Given the description of an element on the screen output the (x, y) to click on. 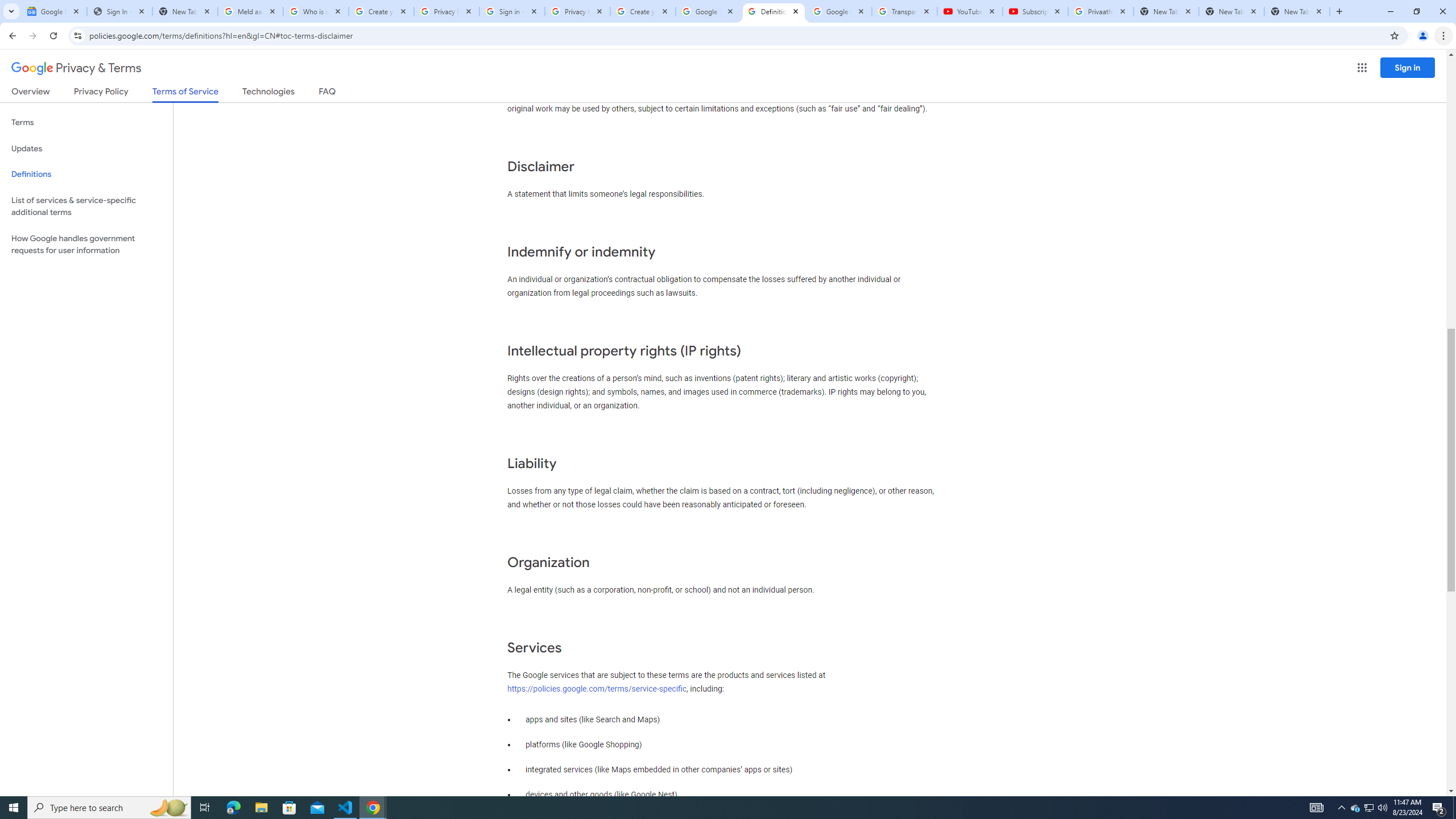
Google apps (1362, 67)
Overview (30, 93)
Terms (86, 122)
Create your Google Account (381, 11)
Address and search bar (735, 35)
Sign in - Google Accounts (512, 11)
Create your Google Account (643, 11)
Sign In - USA TODAY (119, 11)
